Given the description of an element on the screen output the (x, y) to click on. 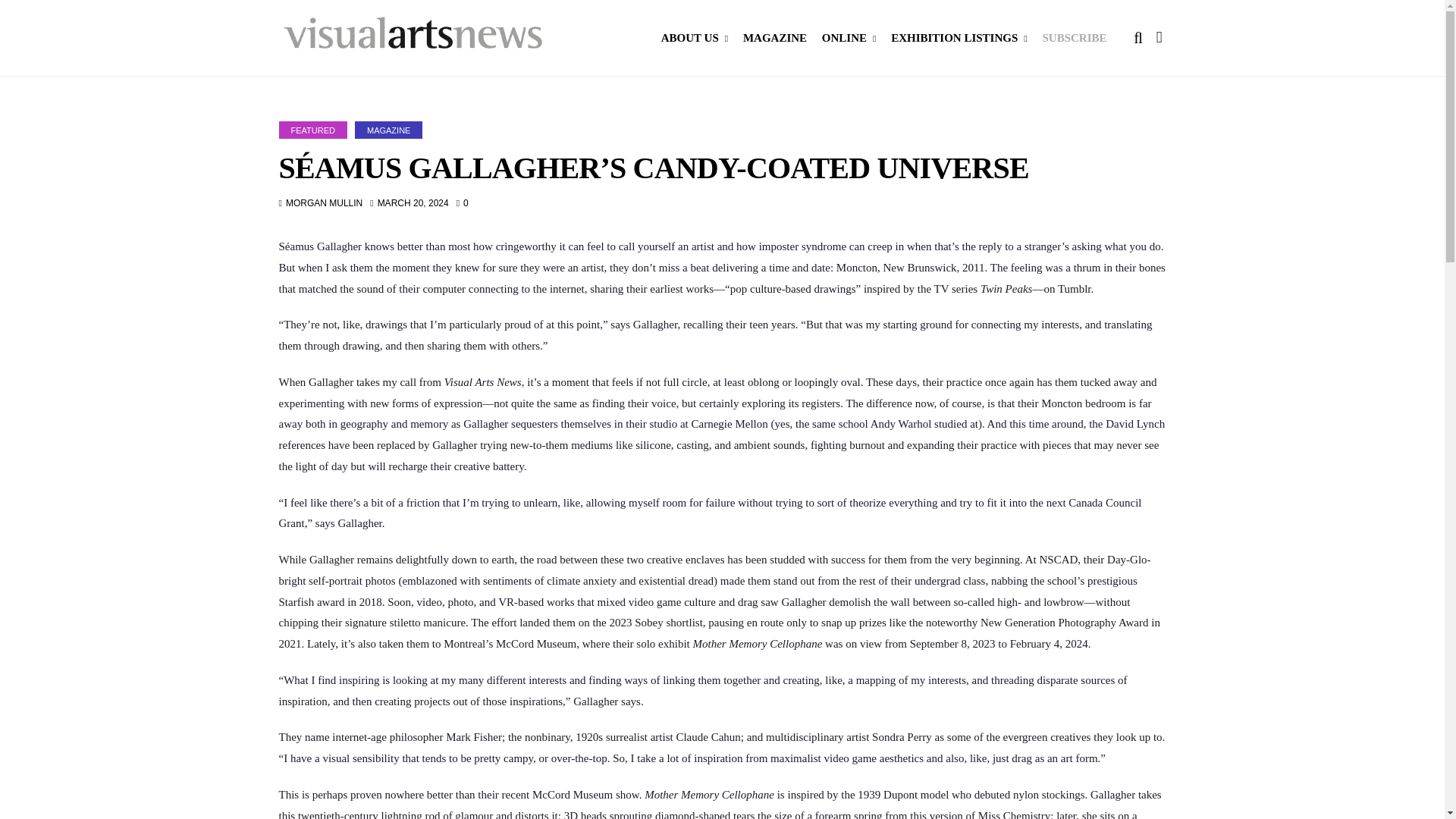
FEATURED (313, 129)
MAGAZINE (774, 38)
MAGAZINE (388, 129)
SUBSCRIBE (1073, 38)
ABOUT US (694, 38)
EXHIBITION LISTINGS (959, 38)
0 (462, 203)
